Given the description of an element on the screen output the (x, y) to click on. 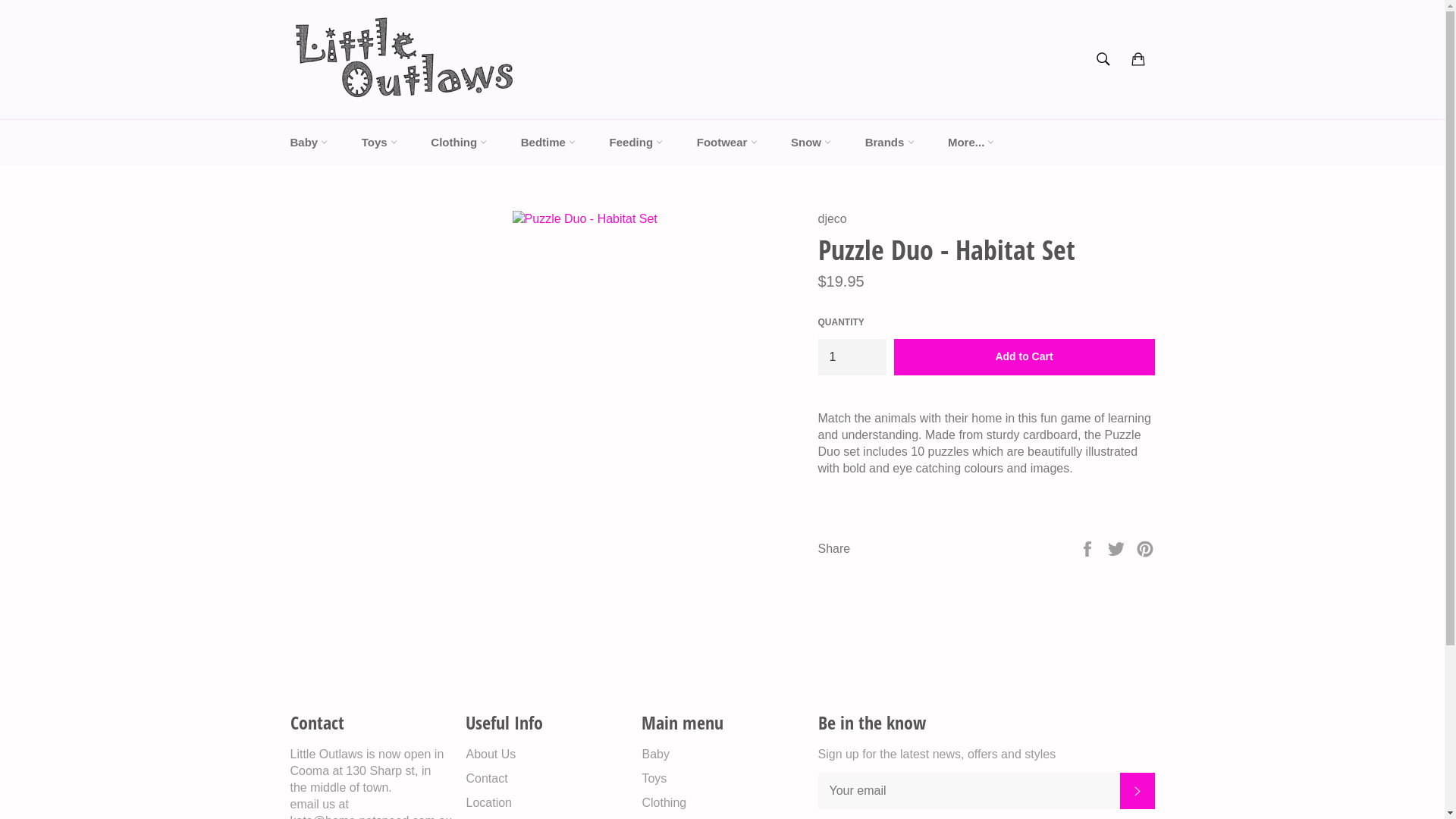
Contact Element type: text (486, 777)
Bedtime Element type: text (547, 142)
Add to Cart Element type: text (1023, 356)
Cart Element type: text (1138, 59)
More... Element type: text (971, 142)
Location Element type: text (488, 802)
Baby Element type: text (308, 142)
Feeding Element type: text (636, 142)
Pin it Element type: text (1144, 547)
Toys Element type: text (653, 777)
Snow Element type: text (810, 142)
Clothing Element type: text (663, 802)
Toys Element type: text (379, 142)
Footwear Element type: text (726, 142)
Tweet Element type: text (1117, 547)
Clothing Element type: text (458, 142)
Search Element type: text (1103, 59)
Brands Element type: text (889, 142)
Subscribe Element type: text (1136, 790)
About Us Element type: text (490, 753)
Share Element type: text (1088, 547)
Baby Element type: text (654, 753)
